Given the description of an element on the screen output the (x, y) to click on. 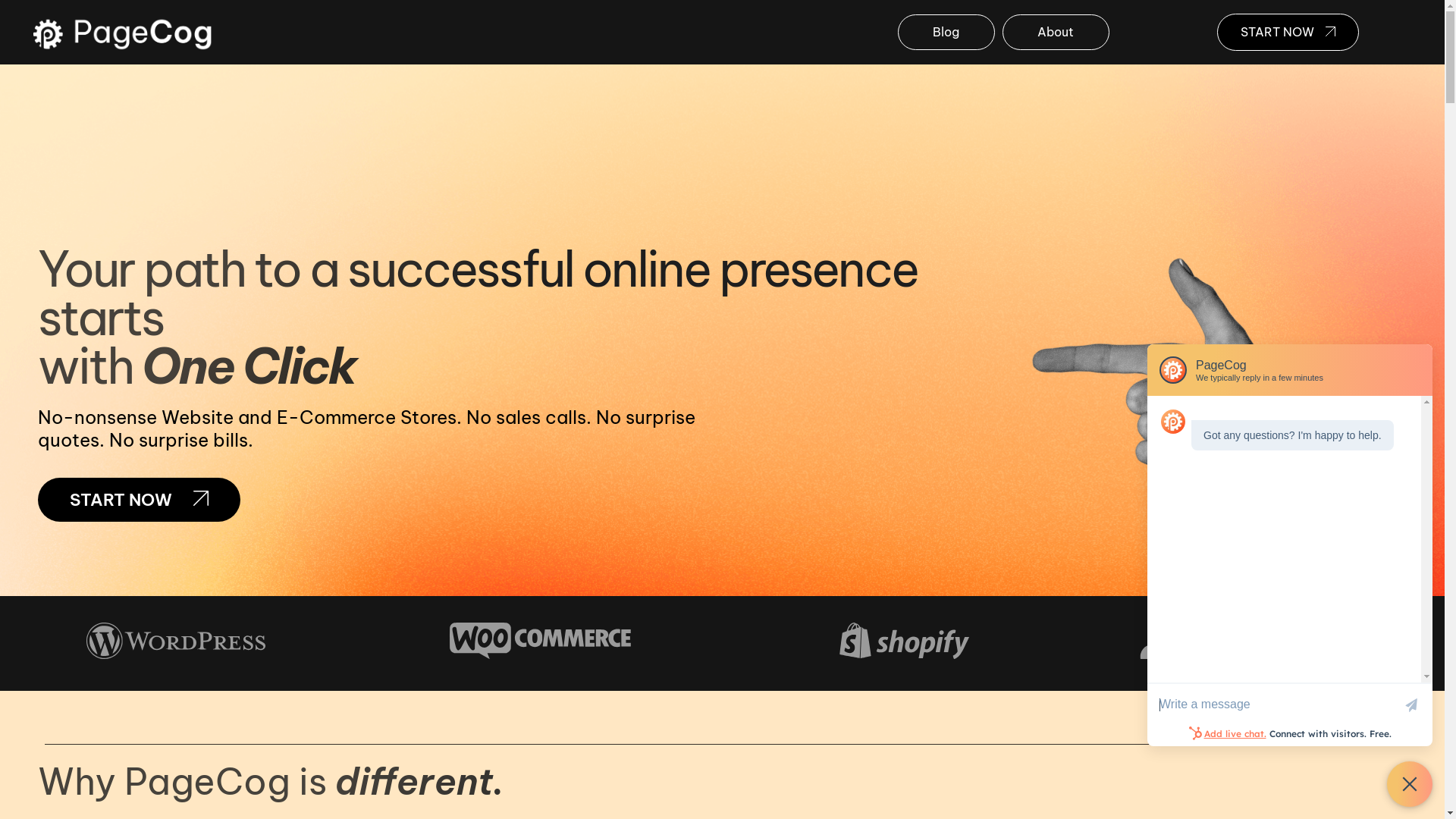
Blog Element type: text (945, 31)
START NOW Element type: text (1287, 31)
About Element type: text (1055, 31)
START NOW Element type: text (138, 499)
